Given the description of an element on the screen output the (x, y) to click on. 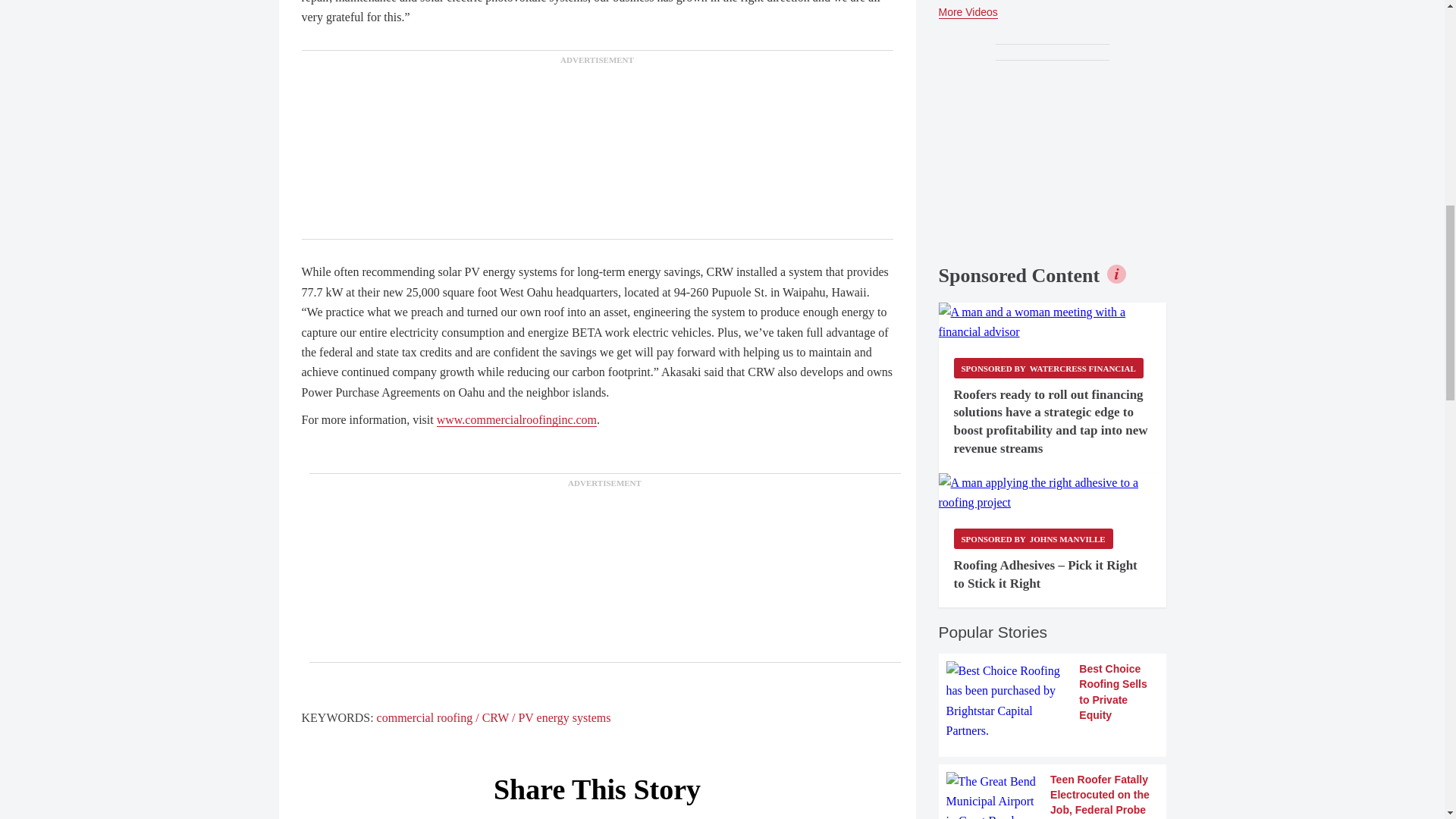
Best Choice Roofing Sells to Private Equity (1052, 701)
Sponsored by Johns Manville (1033, 538)
Sponsored by Watercress Financial (1047, 367)
